Given the description of an element on the screen output the (x, y) to click on. 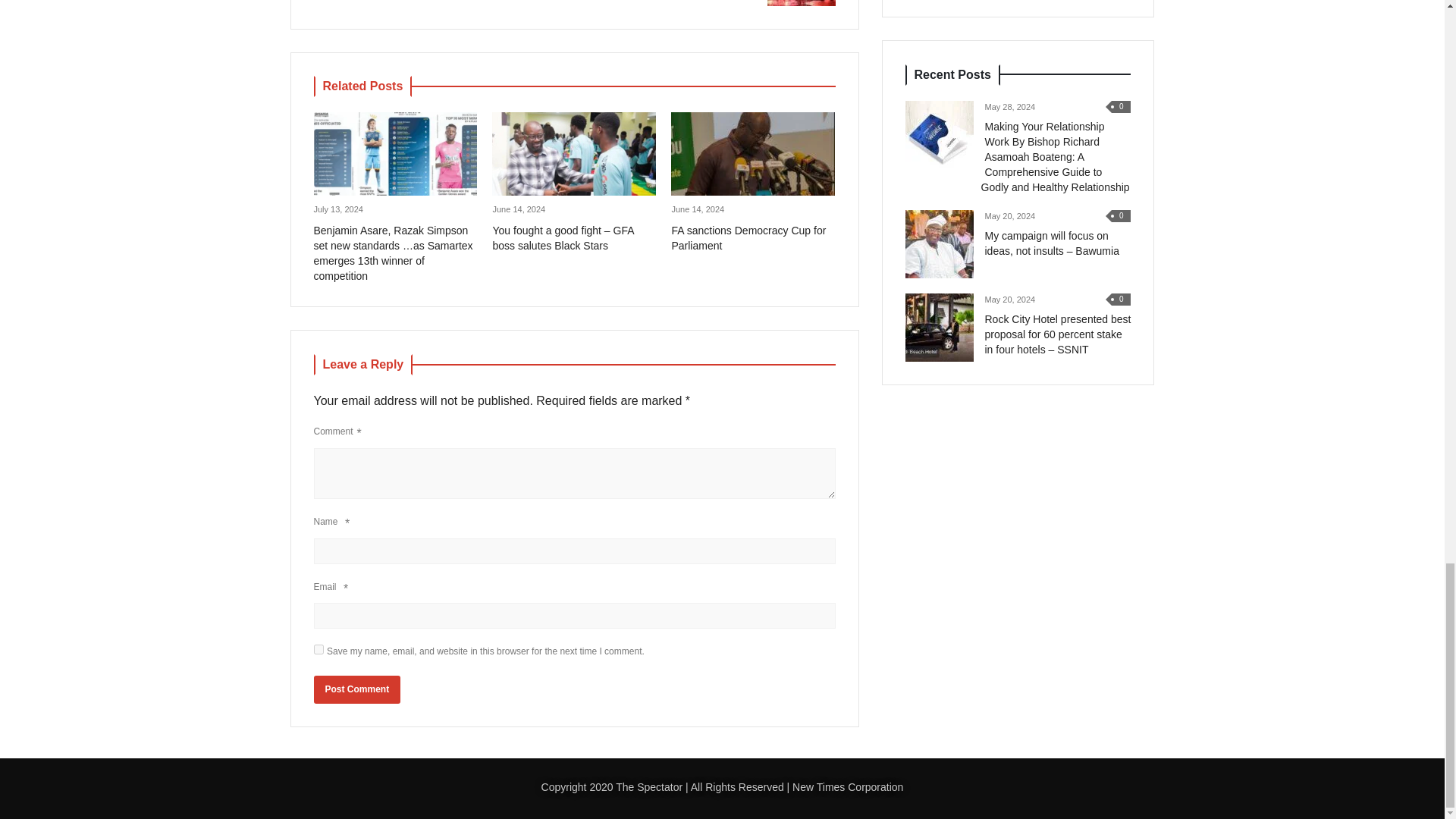
yes (318, 649)
Post Comment (730, 2)
